Given the description of an element on the screen output the (x, y) to click on. 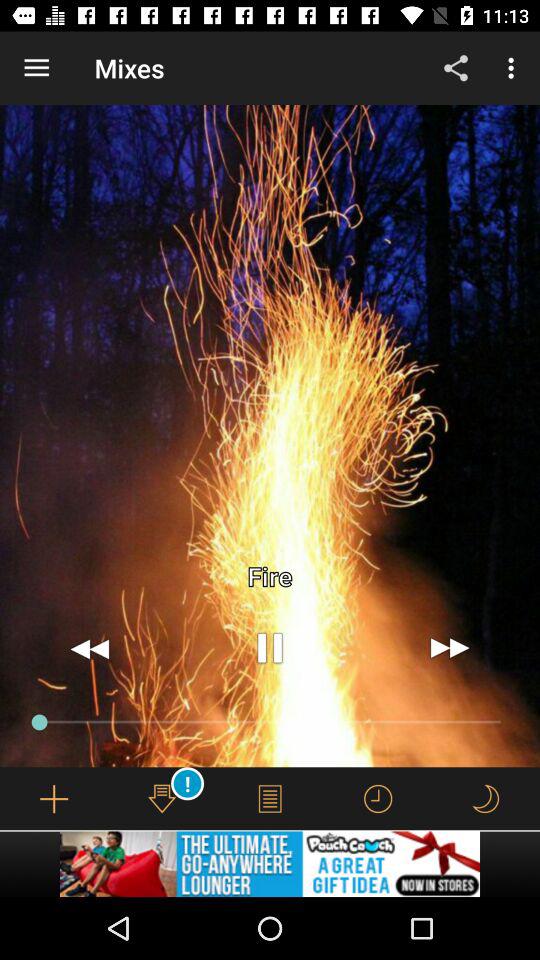
tap the item below the fire icon (270, 648)
